Given the description of an element on the screen output the (x, y) to click on. 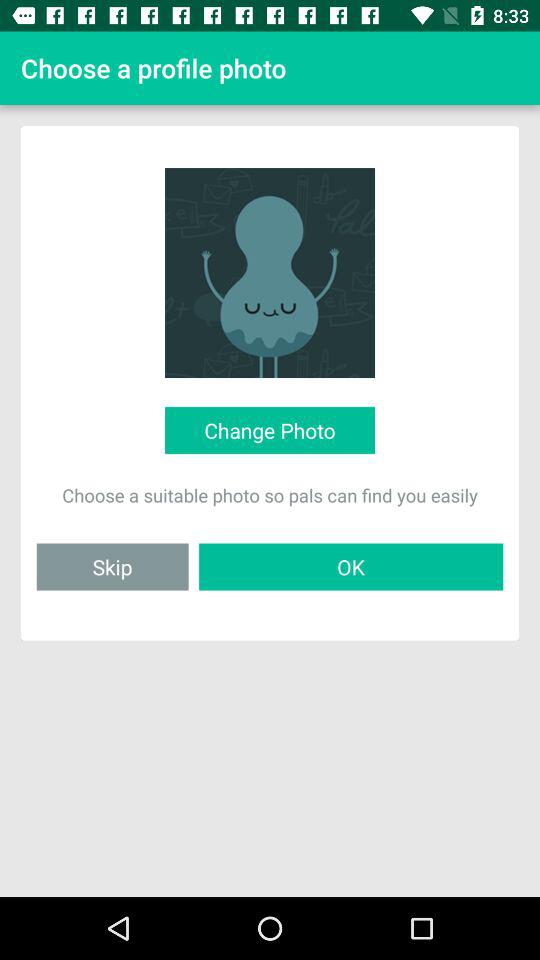
click ok icon (351, 566)
